Given the description of an element on the screen output the (x, y) to click on. 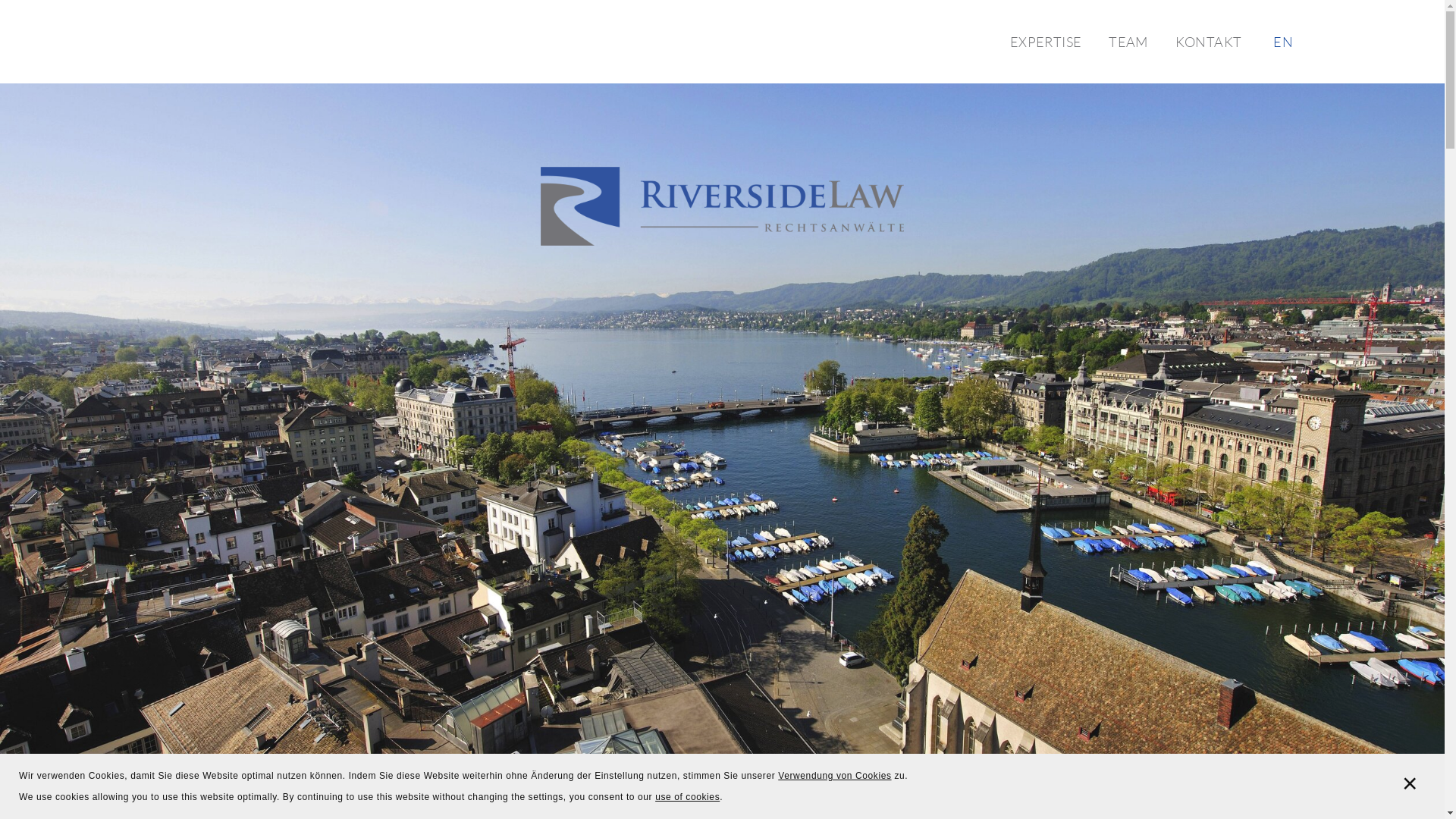
KONTAKT Element type: text (1208, 41)
TEAM Element type: text (1127, 41)
EXPERTISE Element type: text (1045, 41)
EN Element type: text (1282, 41)
use of cookies Element type: text (687, 796)
Verwendung von Cookies Element type: text (834, 775)
